Given the description of an element on the screen output the (x, y) to click on. 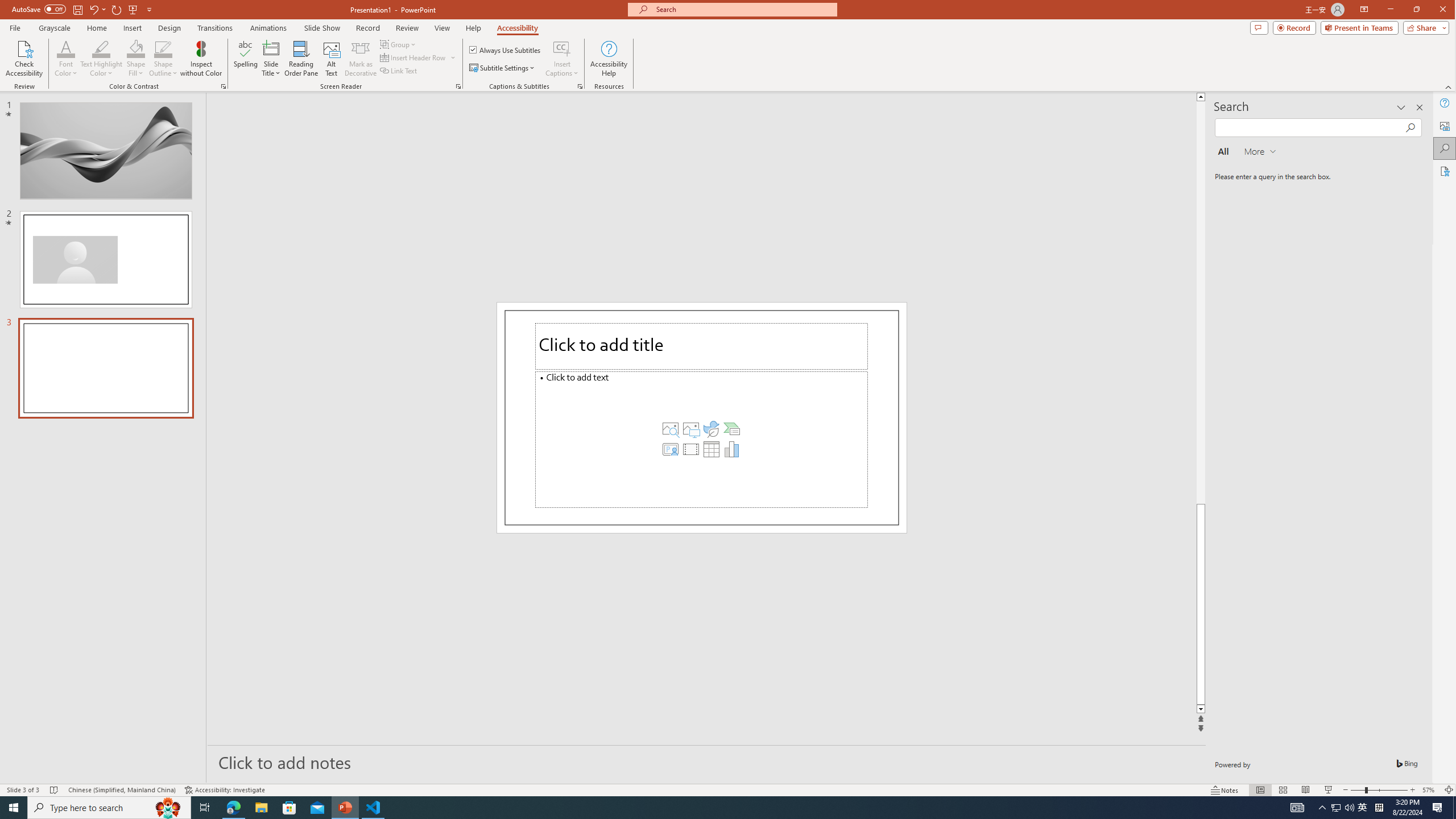
Mark as Decorative (360, 58)
Slide Title (271, 58)
